Given the description of an element on the screen output the (x, y) to click on. 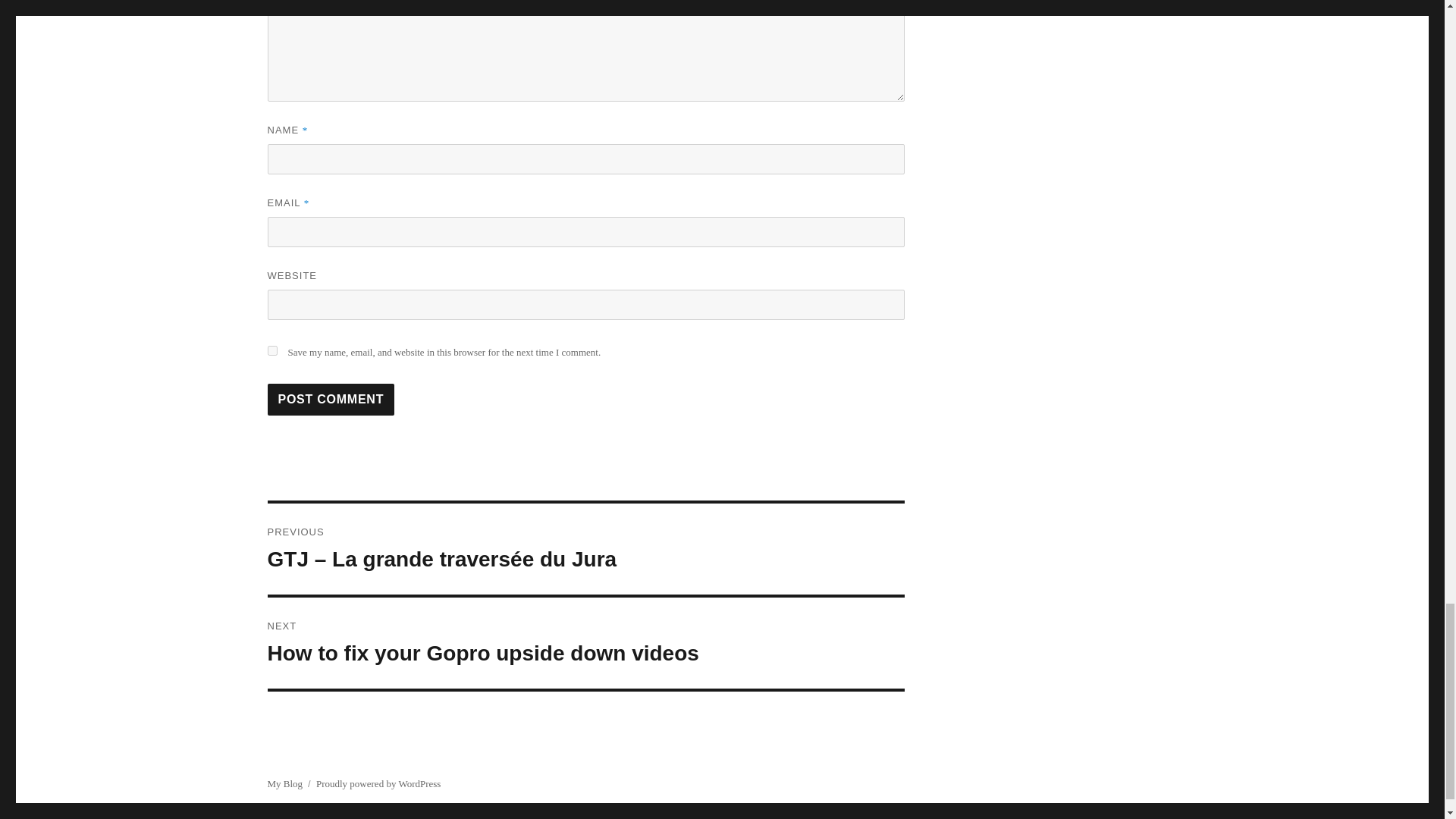
Post Comment (330, 399)
yes (271, 350)
Post Comment (330, 399)
